Given the description of an element on the screen output the (x, y) to click on. 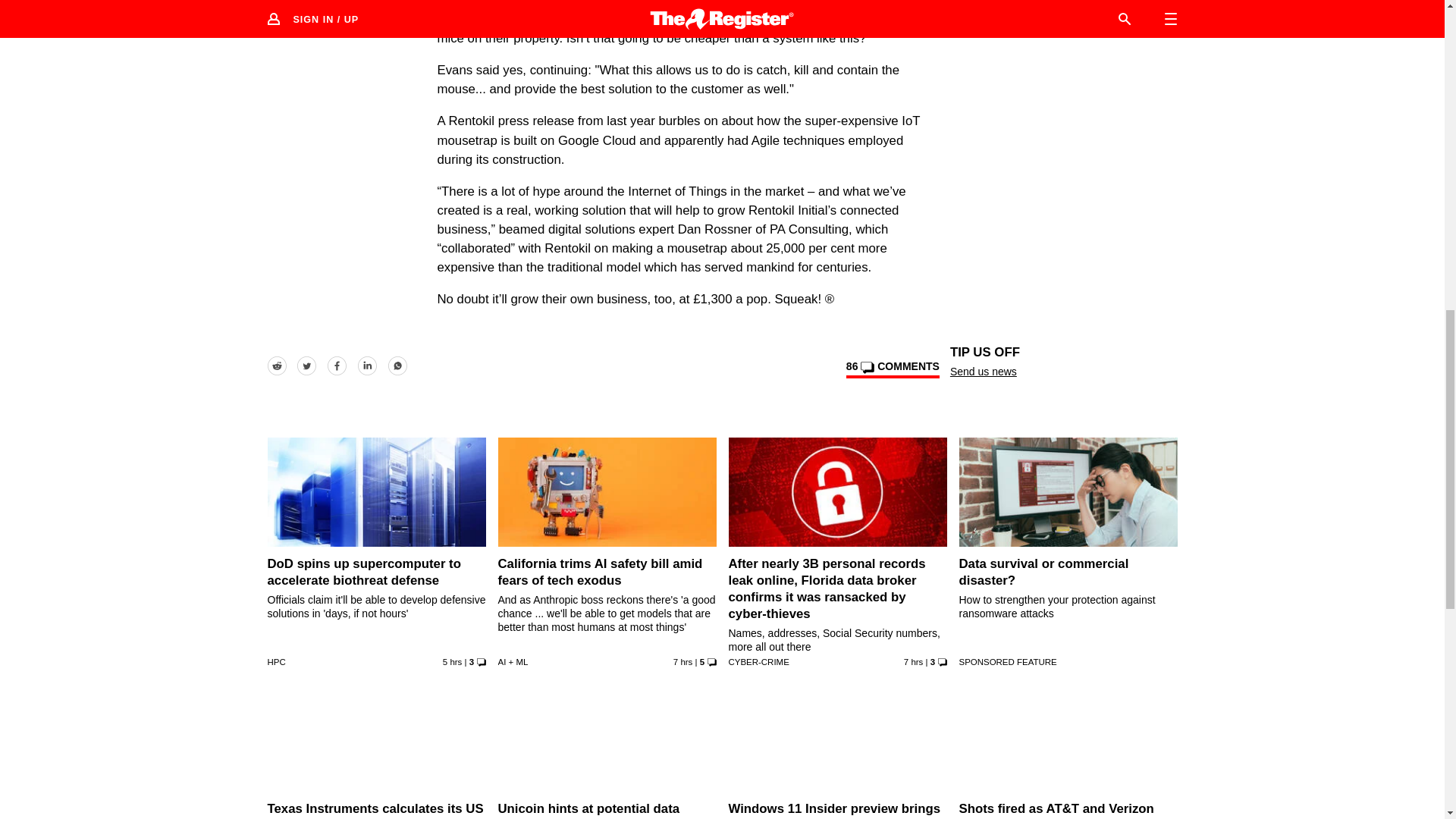
16 Aug 2024 21:19 (682, 660)
View comments on this article (892, 369)
16 Aug 2024 20:45 (913, 660)
16 Aug 2024 23:12 (452, 660)
